Given the description of an element on the screen output the (x, y) to click on. 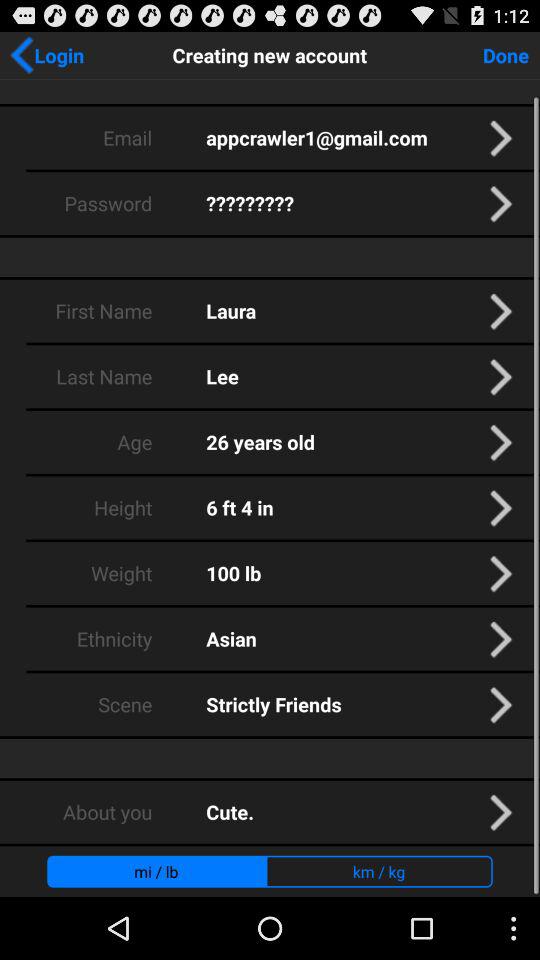
turn on the app next to the creating new account icon (46, 55)
